Given the description of an element on the screen output the (x, y) to click on. 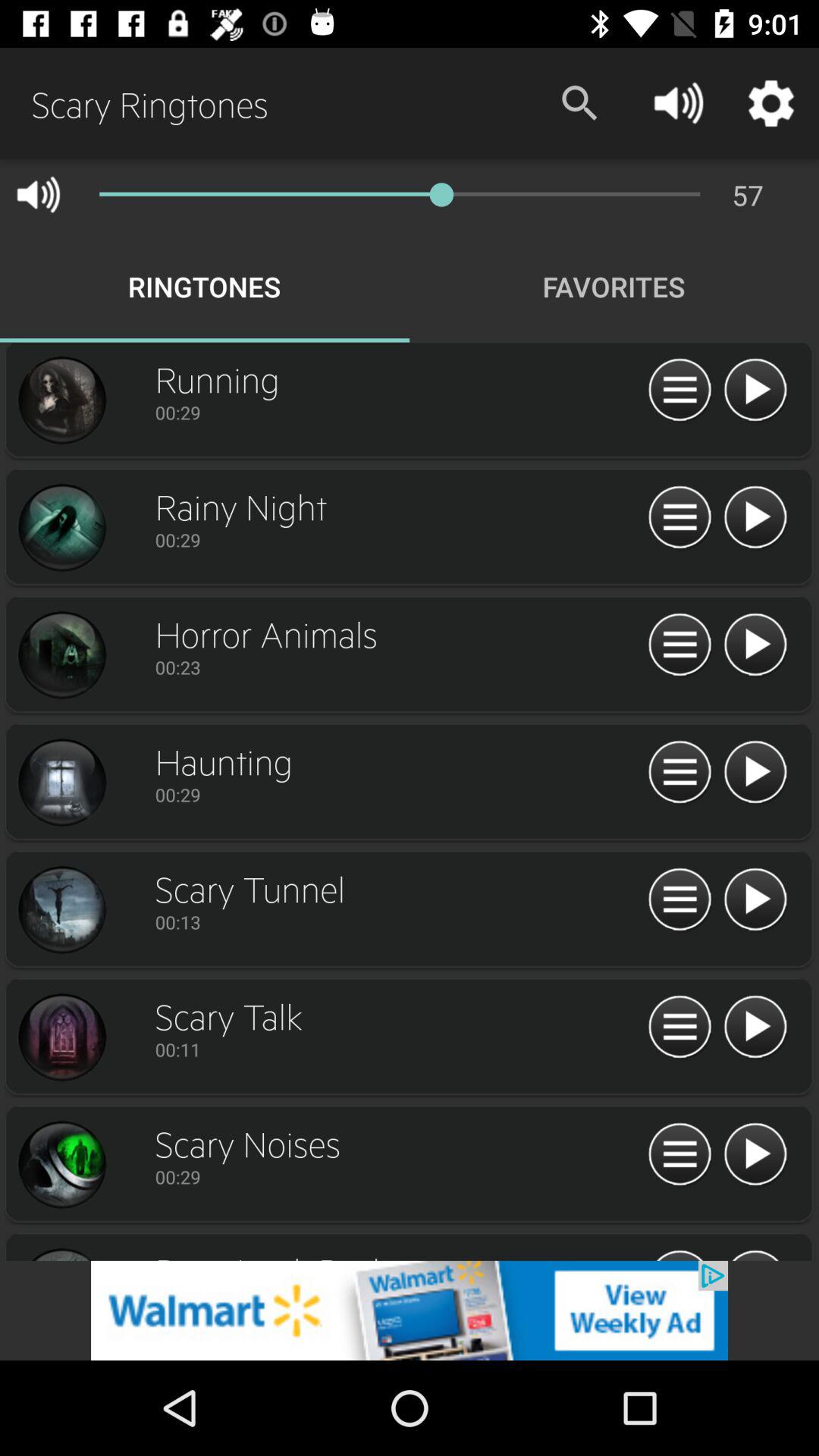
play audio (755, 390)
